Given the description of an element on the screen output the (x, y) to click on. 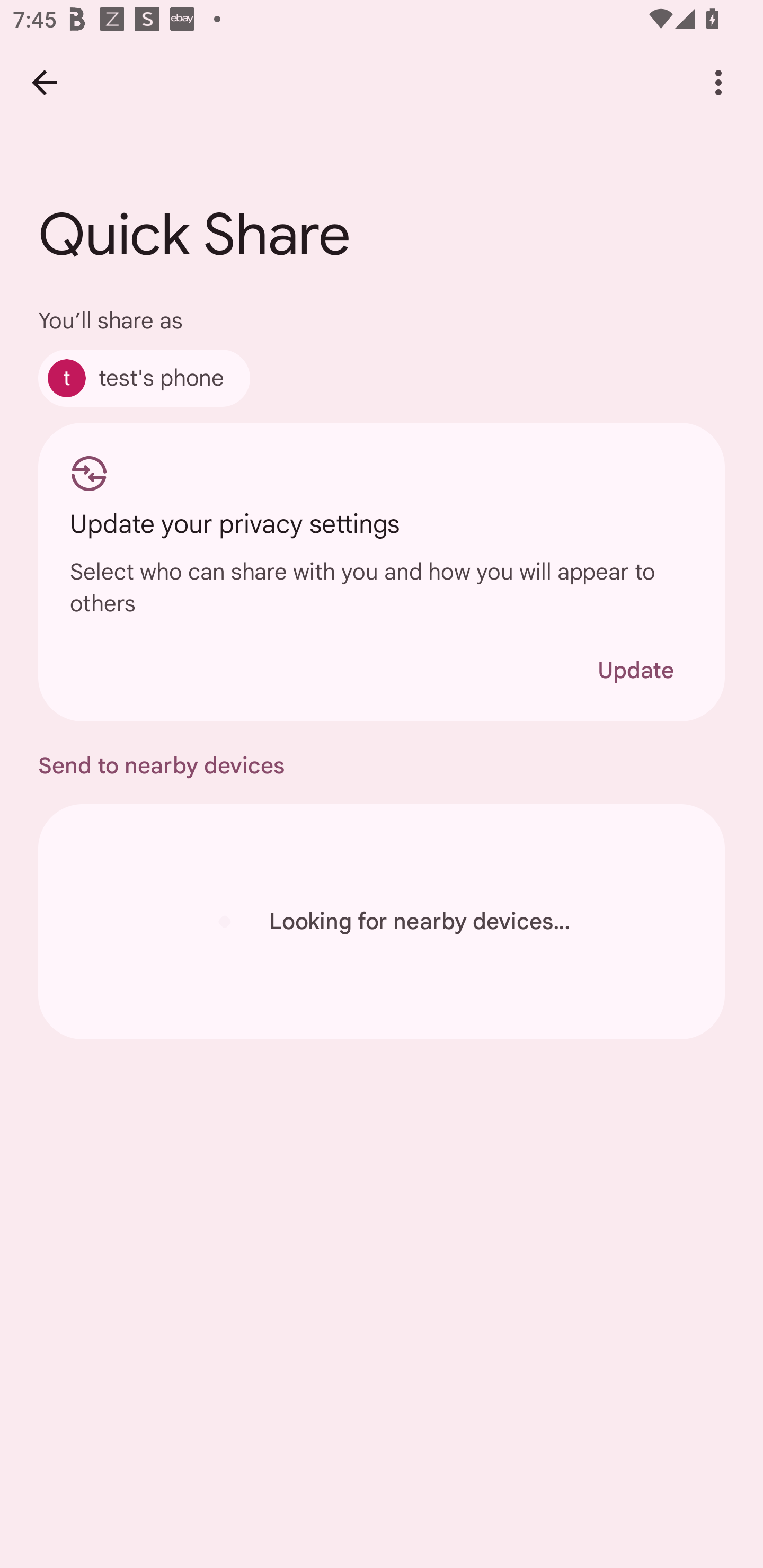
Back (44, 81)
More (718, 81)
test's phone (144, 378)
Update (635, 669)
